Given the description of an element on the screen output the (x, y) to click on. 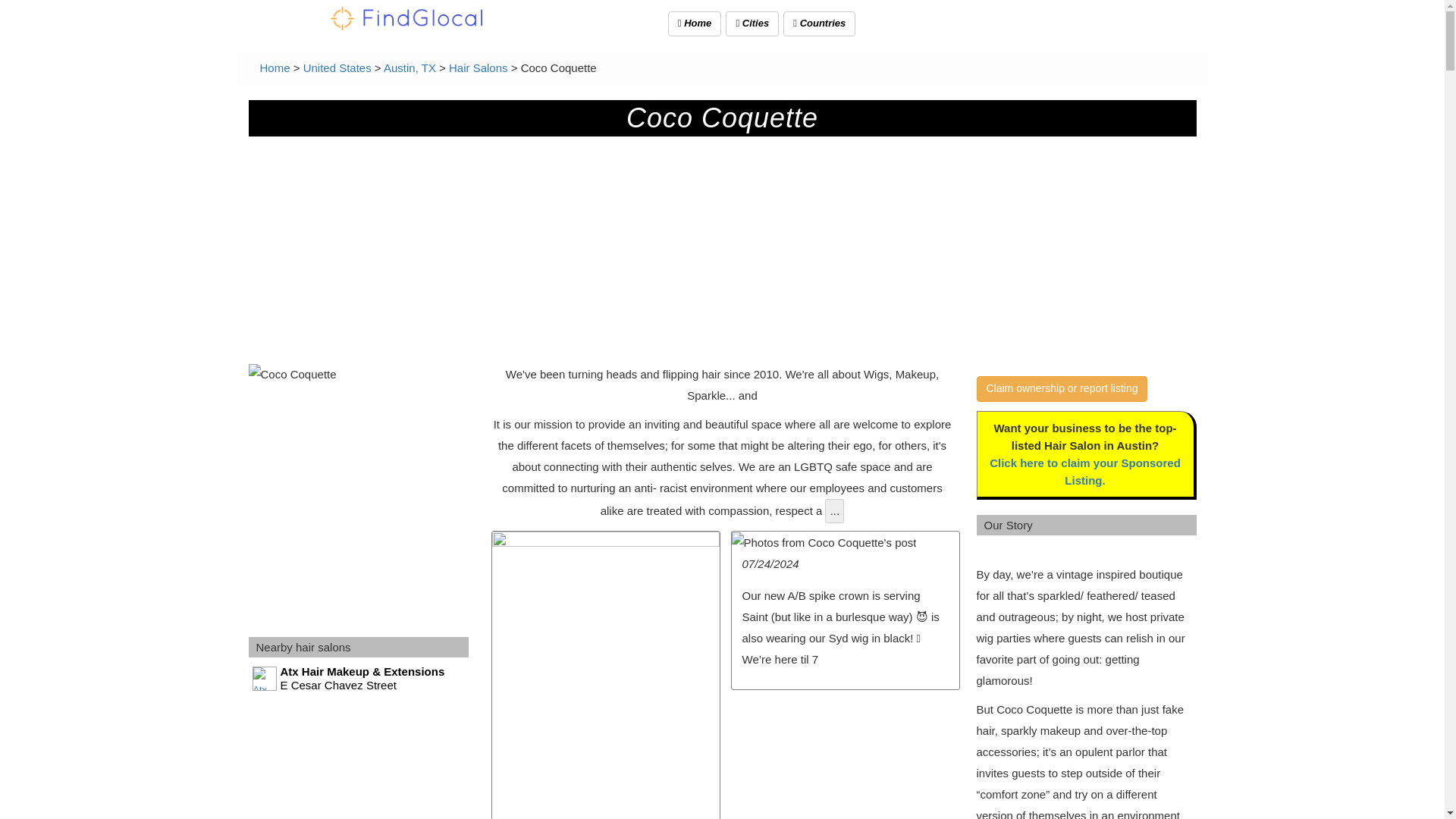
Claim ownership or report listing (1062, 388)
Hair Salons (478, 67)
Home (274, 67)
United States (336, 67)
Countries (819, 23)
Cities (751, 23)
Click here to claim your Sponsored Listing. (1085, 471)
Home (694, 23)
Austin, TX (409, 67)
Home (274, 67)
